Given the description of an element on the screen output the (x, y) to click on. 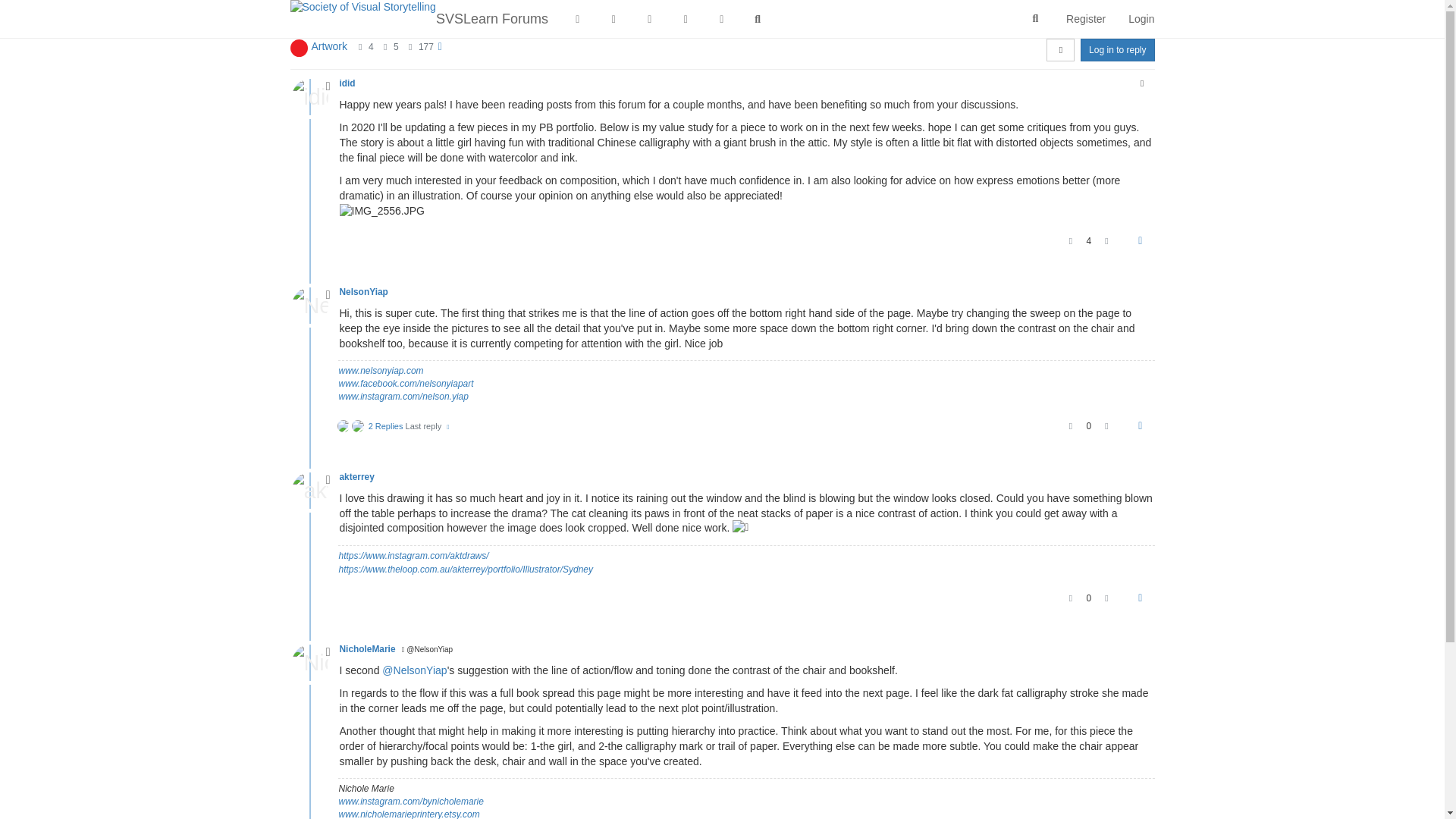
Groups (721, 18)
Posters (360, 46)
Search (757, 18)
177 (426, 46)
Recent (577, 18)
Login (1141, 18)
idid (347, 82)
Log in to reply (1117, 49)
Posts (385, 46)
Users (684, 18)
